Given the description of an element on the screen output the (x, y) to click on. 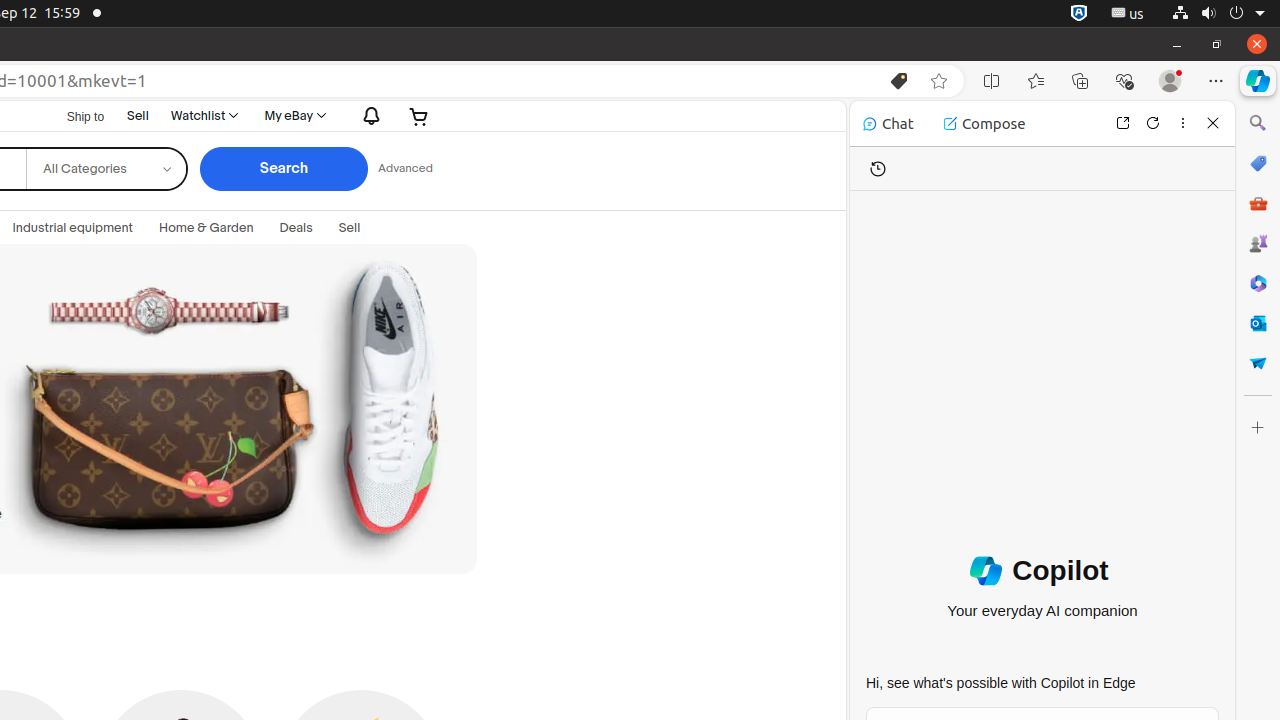
More options Element type: push-button (1183, 122)
Copilot (Ctrl+Shift+.) Element type: push-button (1258, 81)
:1.72/StatusNotifierItem Element type: menu (1079, 13)
Home & Garden Element type: link (206, 228)
Industrial equipment Element type: link (73, 228)
